Given the description of an element on the screen output the (x, y) to click on. 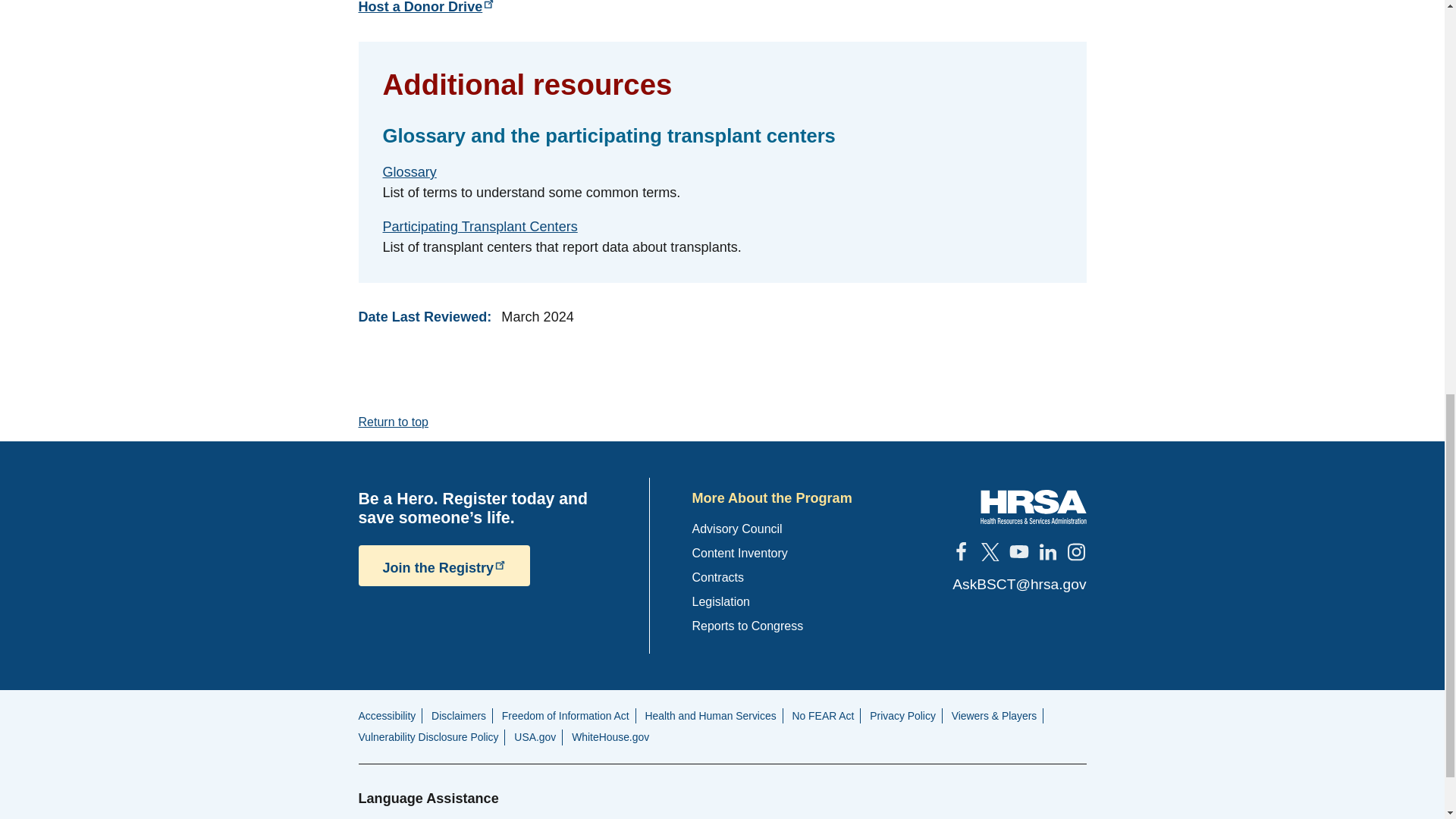
Contracts (716, 576)
Legislation (720, 601)
Facebook (960, 551)
Government links to helpful resources and sites (386, 715)
Return to top (393, 421)
Instagram (1075, 551)
Advisory Council (736, 528)
Understand where program information is located. (739, 553)
Accessibility (386, 715)
HRSA Health Resources and Services Administration (1032, 506)
